Given the description of an element on the screen output the (x, y) to click on. 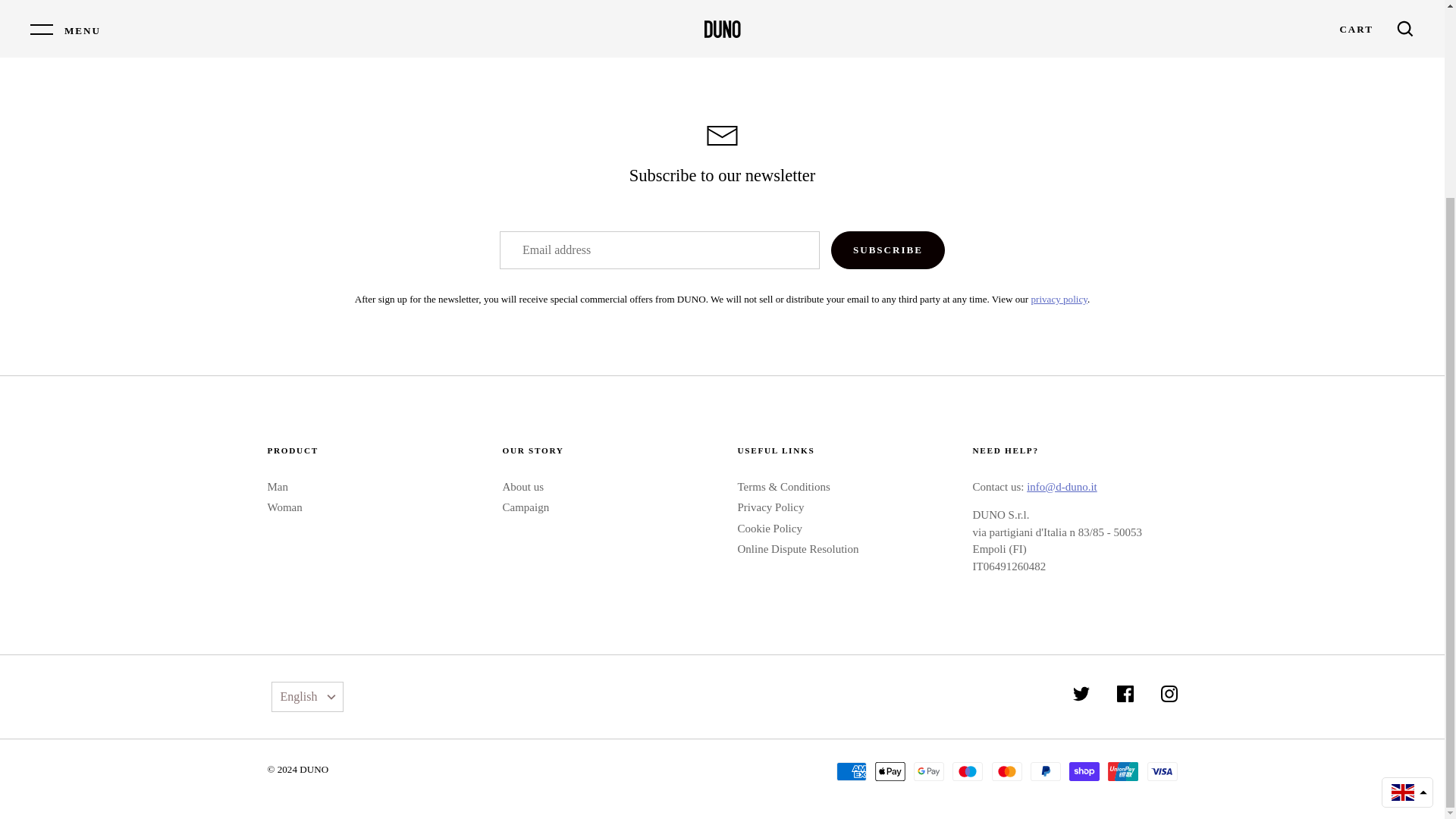
Down (331, 697)
Campaign (525, 507)
privacy policy (1058, 298)
Twitter (1081, 693)
SUBSCRIBE (887, 249)
Woman (283, 507)
About us (522, 487)
Facebook (1125, 693)
Privacy Policy (1058, 298)
Man (277, 487)
Instagram (1168, 693)
Email (722, 135)
